Given the description of an element on the screen output the (x, y) to click on. 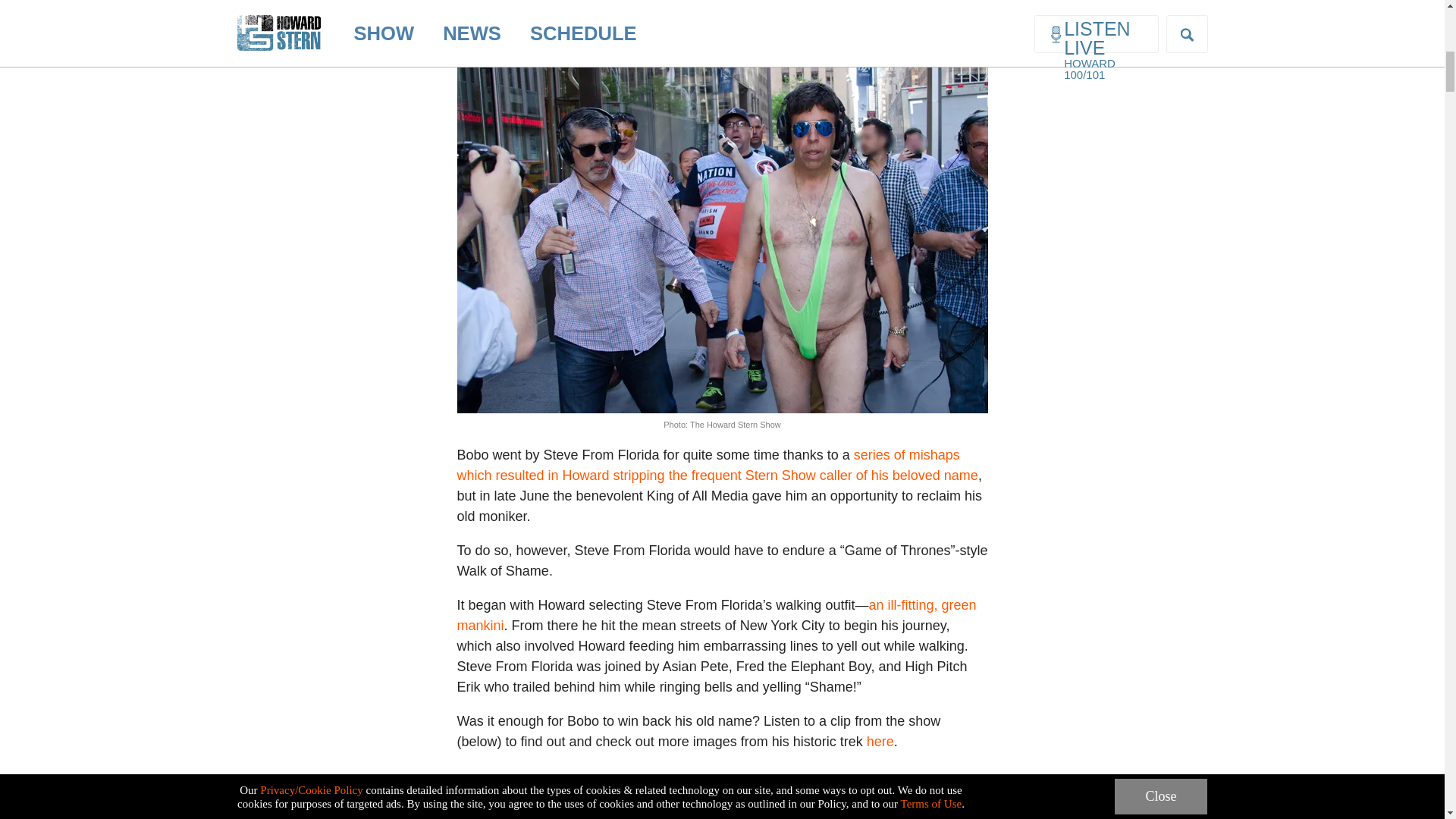
here (879, 741)
an ill-fitting, green mankini (716, 615)
